Given the description of an element on the screen output the (x, y) to click on. 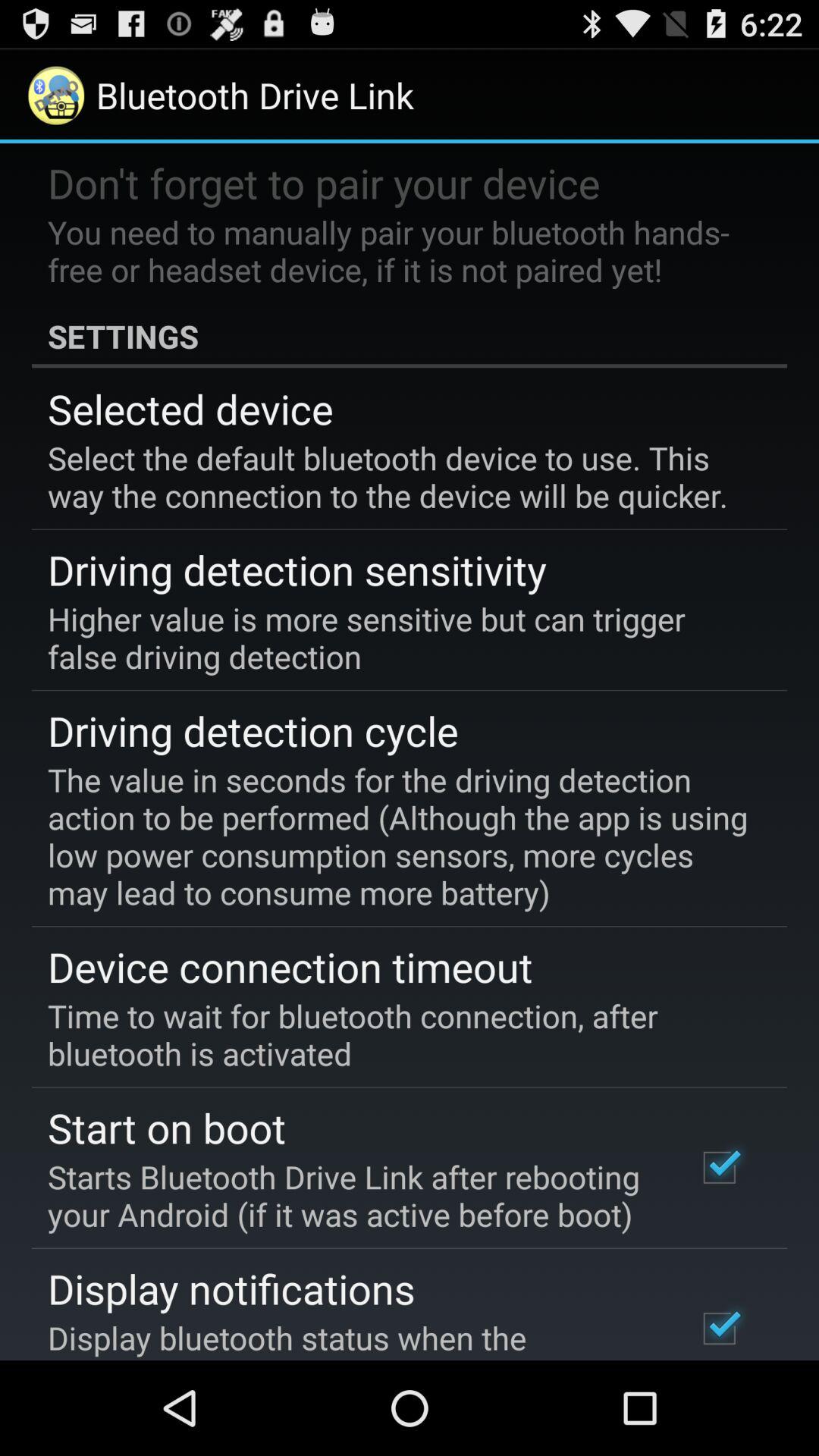
scroll to settings app (409, 335)
